Given the description of an element on the screen output the (x, y) to click on. 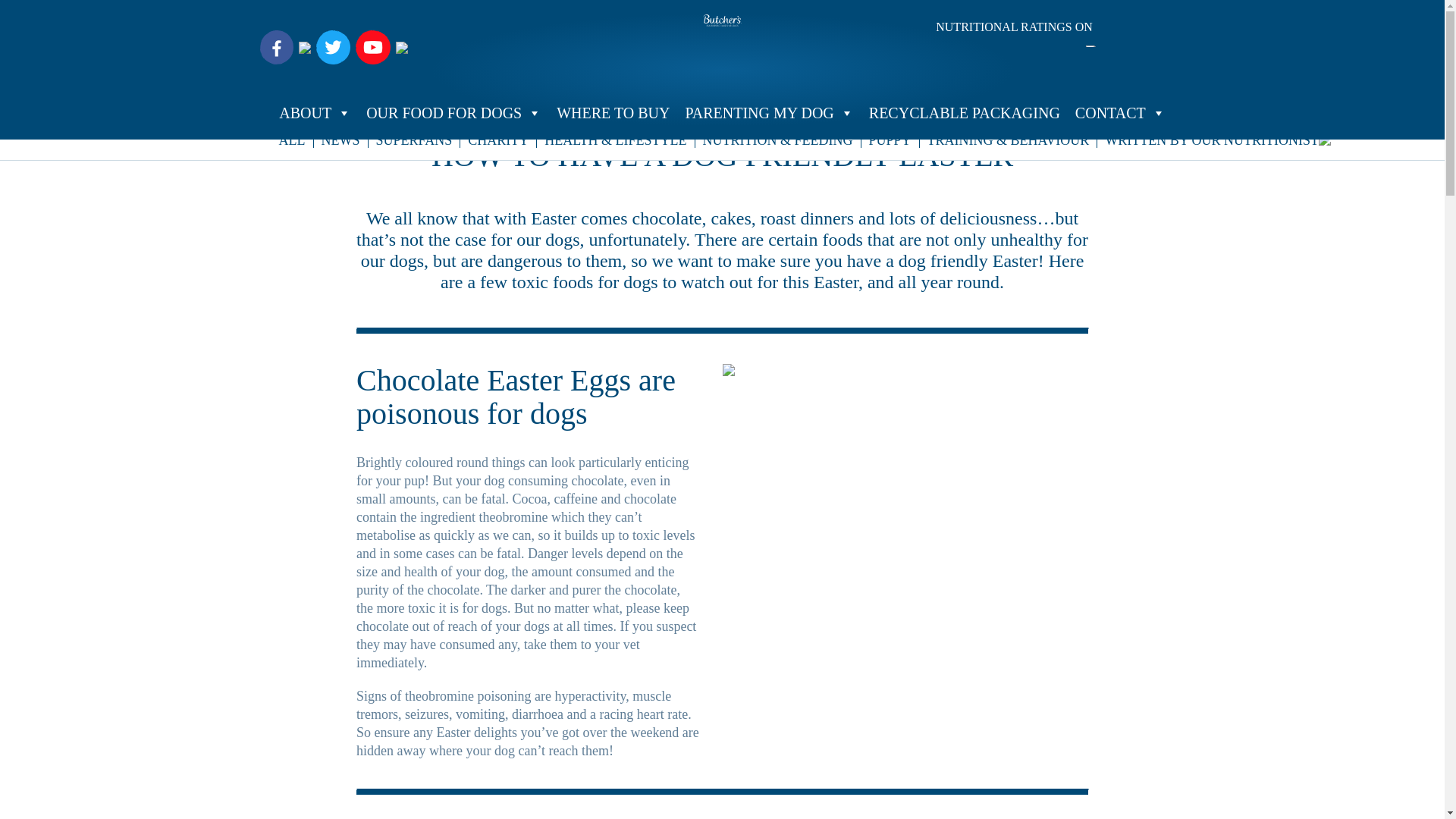
ABOUT (314, 112)
NUTRITIONAL RATINGS ON (1014, 33)
OUR FOOD FOR DOGS (453, 112)
